Given the description of an element on the screen output the (x, y) to click on. 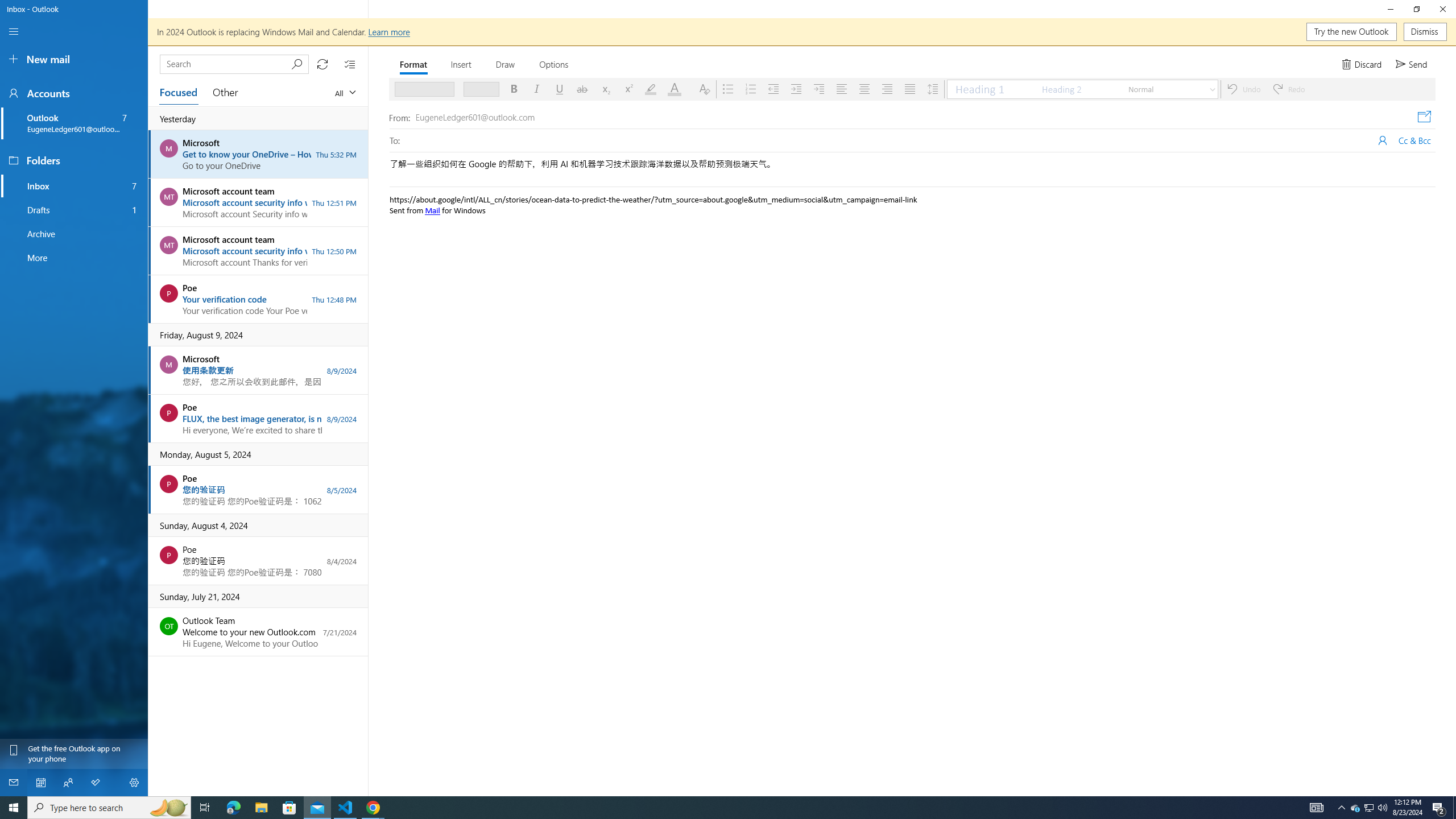
Focused (178, 91)
Dismiss (1425, 31)
Quick Access Commands (1385, 63)
Open message in a new window (1423, 116)
Switch to People (68, 782)
Sync this view (322, 63)
Subscript (604, 88)
More (74, 257)
Learn more (388, 31)
Bullets (727, 88)
Manage accounts (74, 93)
Redo (1288, 88)
Switch to calendar (41, 782)
